Given the description of an element on the screen output the (x, y) to click on. 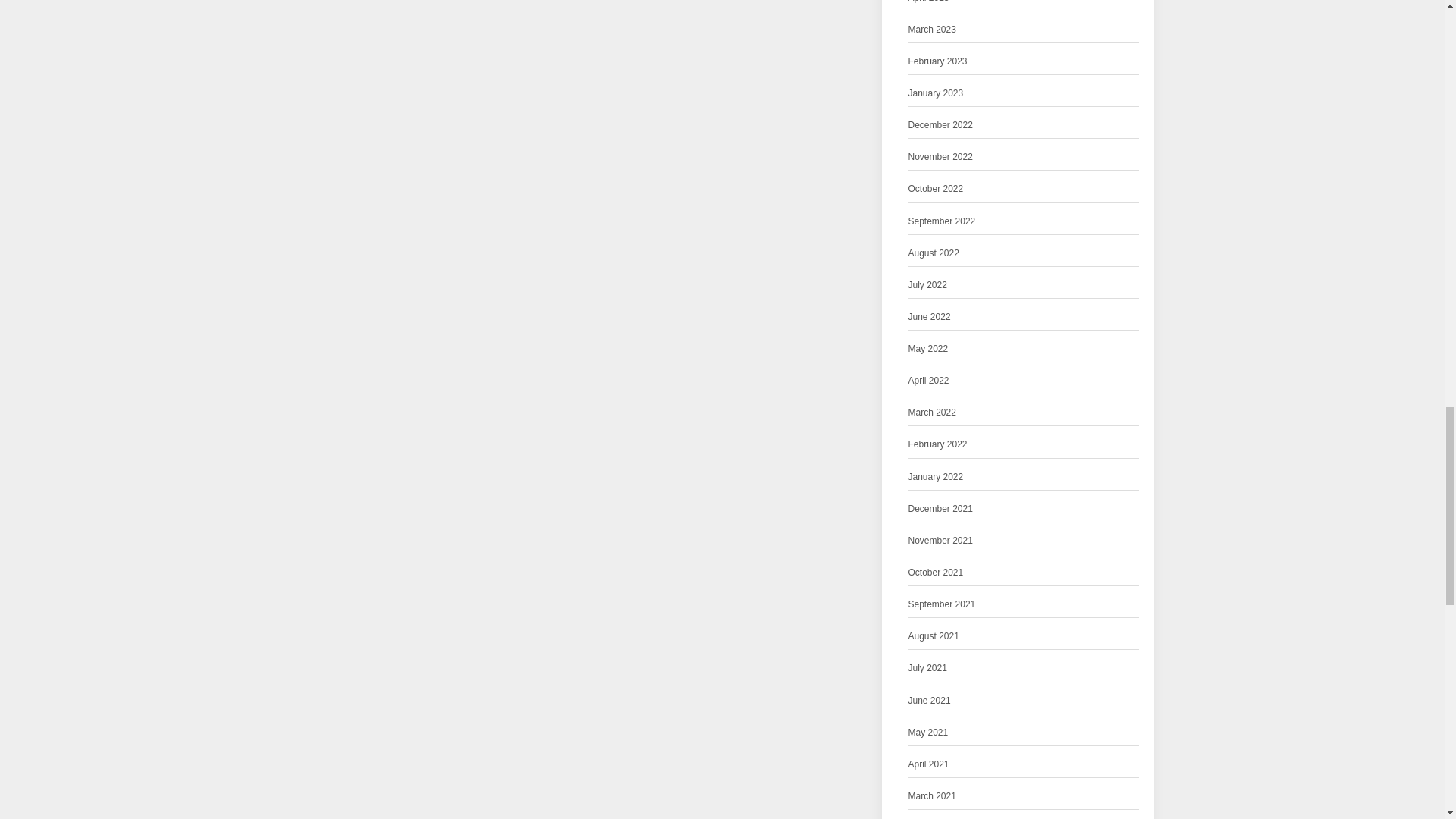
March 2023 (932, 29)
April 2023 (928, 2)
February 2023 (938, 61)
